Given the description of an element on the screen output the (x, y) to click on. 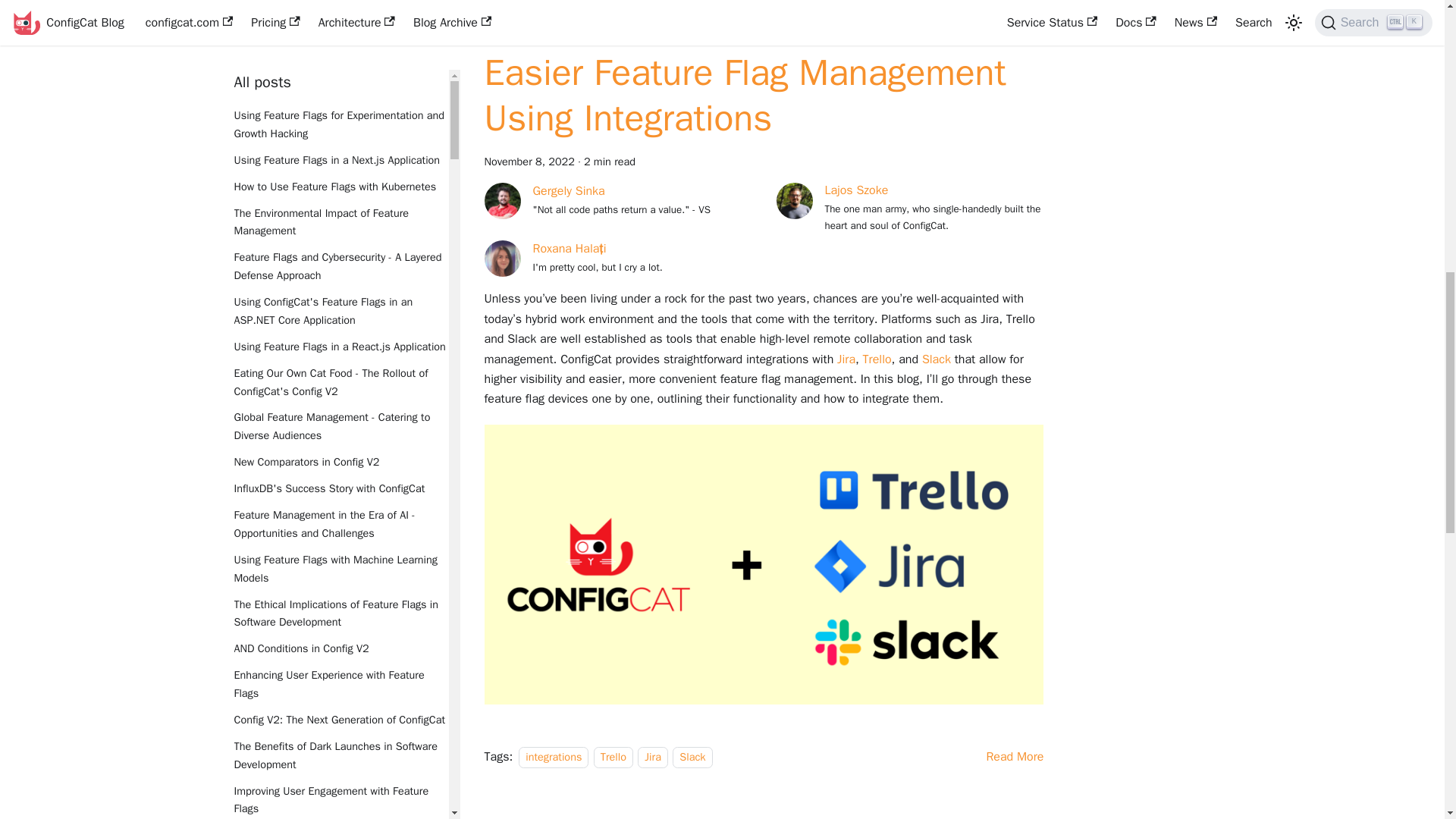
Feature Flagging for Security - Best Practices and Use Cases (340, 158)
ConfigCat's New Pricing Policy (340, 311)
Using ConfigCat for Staged Rollouts and Canary Releases (340, 275)
How Feature Flags Can Help You Scale Efficiently (340, 115)
Feature Flag Retirement (340, 194)
